Given the description of an element on the screen output the (x, y) to click on. 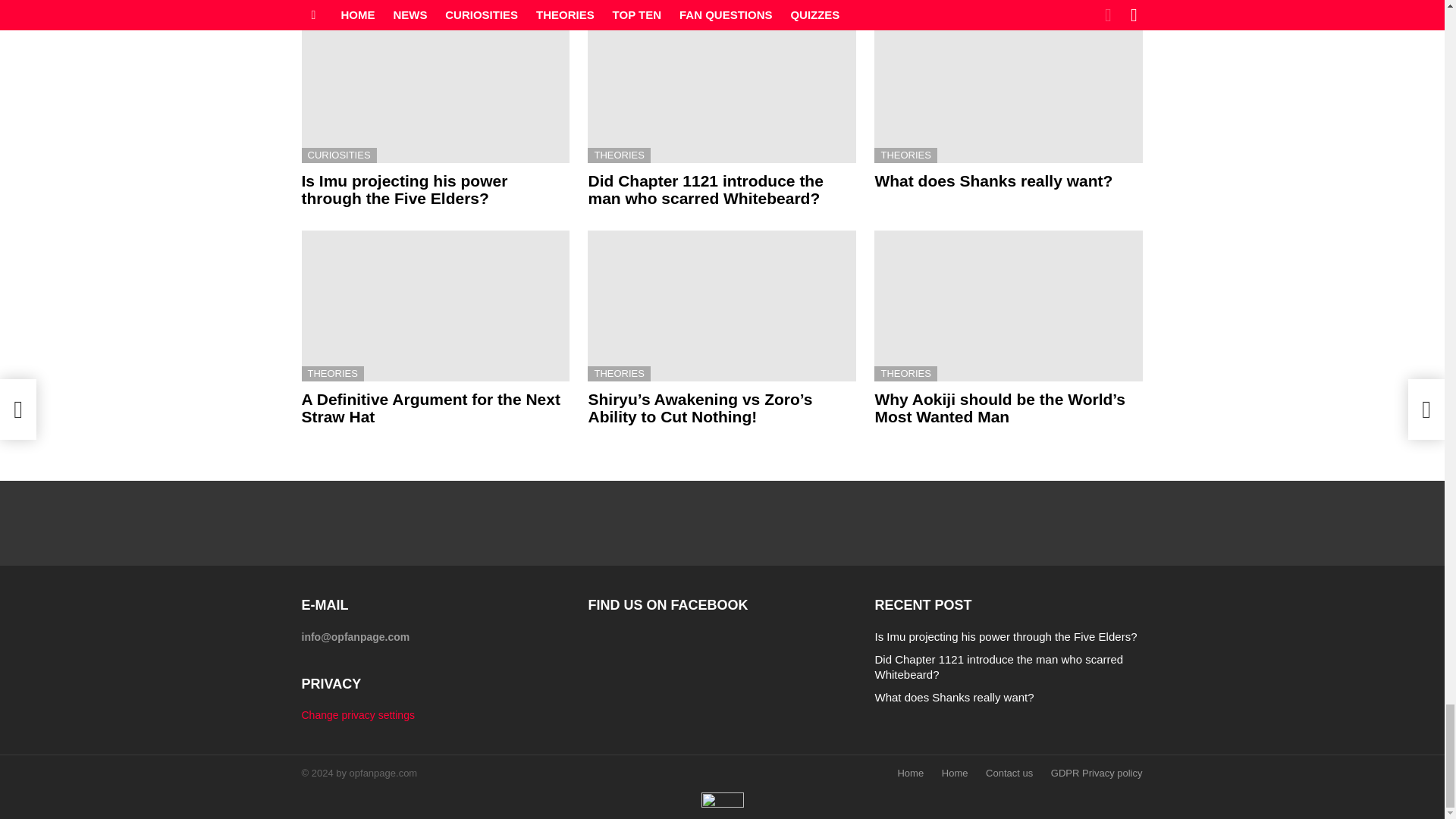
THEORIES (618, 373)
Did Chapter 1121 introduce the man who scarred Whitebeard? (722, 87)
A Definitive Argument for the Next Straw Hat (435, 305)
CURIOSITIES (339, 155)
What does Shanks really want? (1008, 87)
THEORIES (905, 155)
What does Shanks really want? (993, 180)
THEORIES (332, 373)
